Given the description of an element on the screen output the (x, y) to click on. 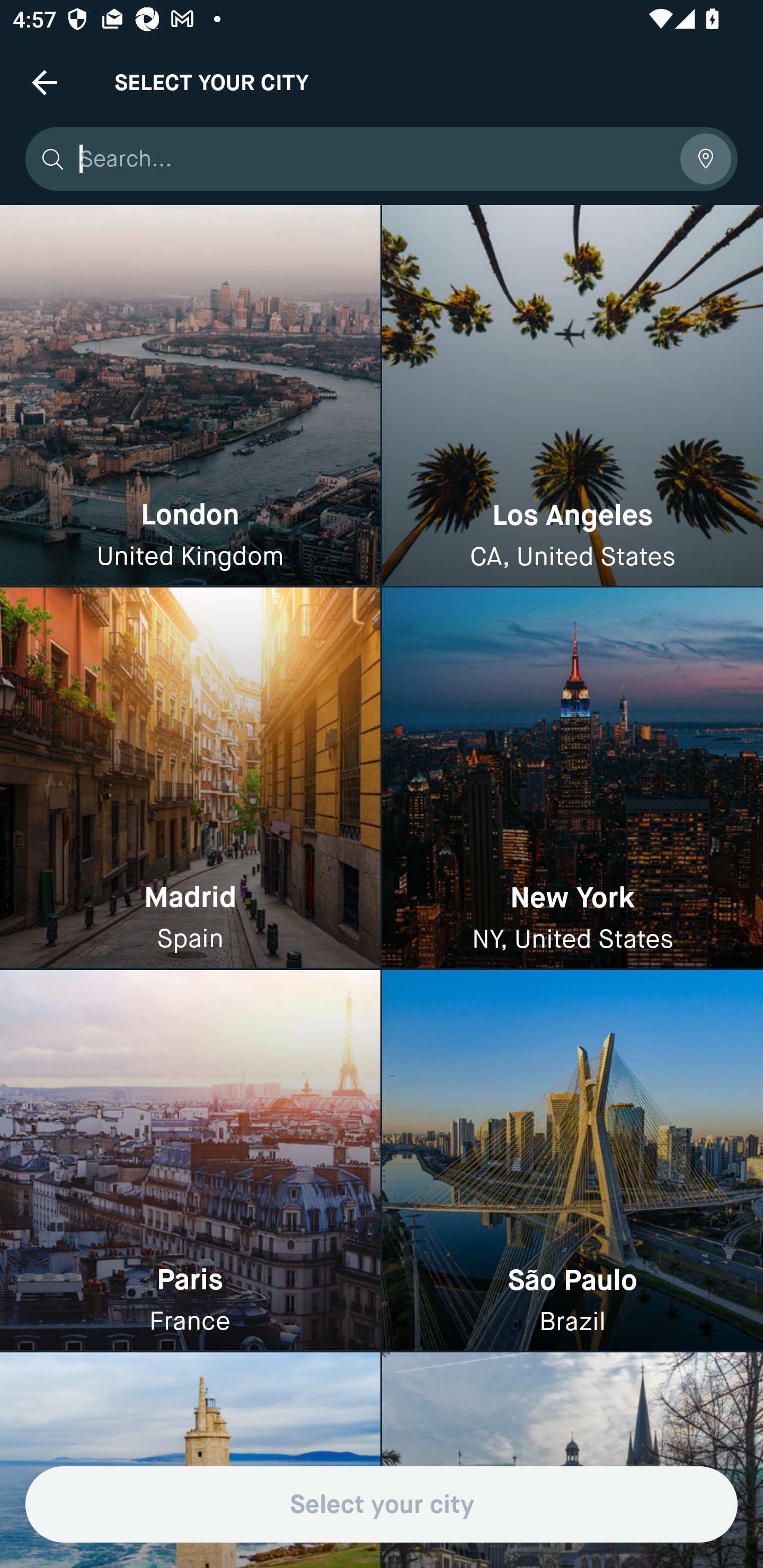
Navigate up (44, 82)
Search... (373, 159)
London United Kingdom (190, 395)
Los Angeles CA, United States (572, 395)
Madrid Spain (190, 778)
New York NY, United States (572, 778)
Paris France (190, 1160)
São Paulo Brazil (572, 1160)
Select your city (381, 1504)
